Given the description of an element on the screen output the (x, y) to click on. 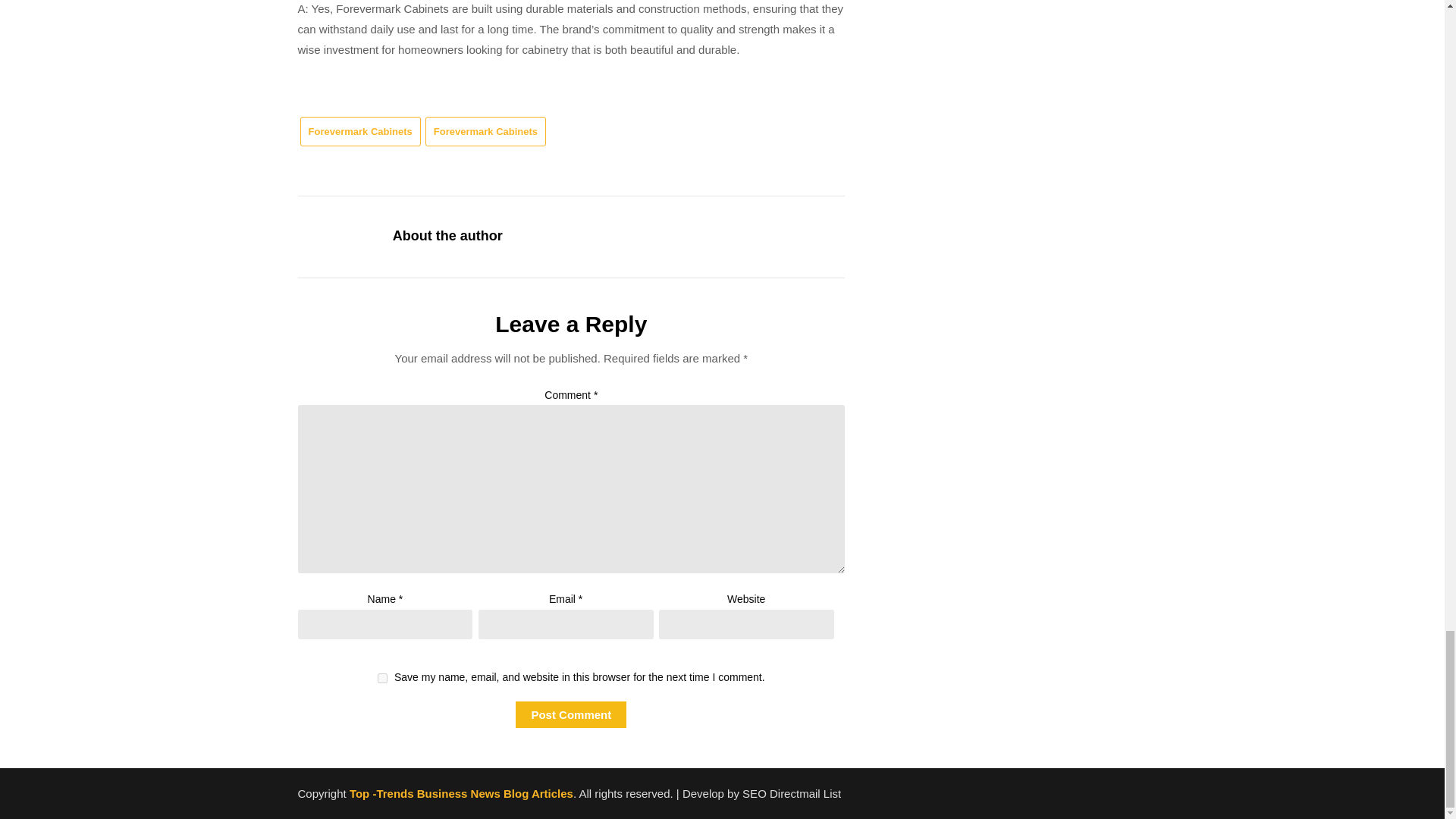
yes (382, 678)
Post Comment (570, 714)
Forevermark Cabinets (485, 131)
Forevermark Cabinets (359, 131)
Post Comment (570, 714)
